Given the description of an element on the screen output the (x, y) to click on. 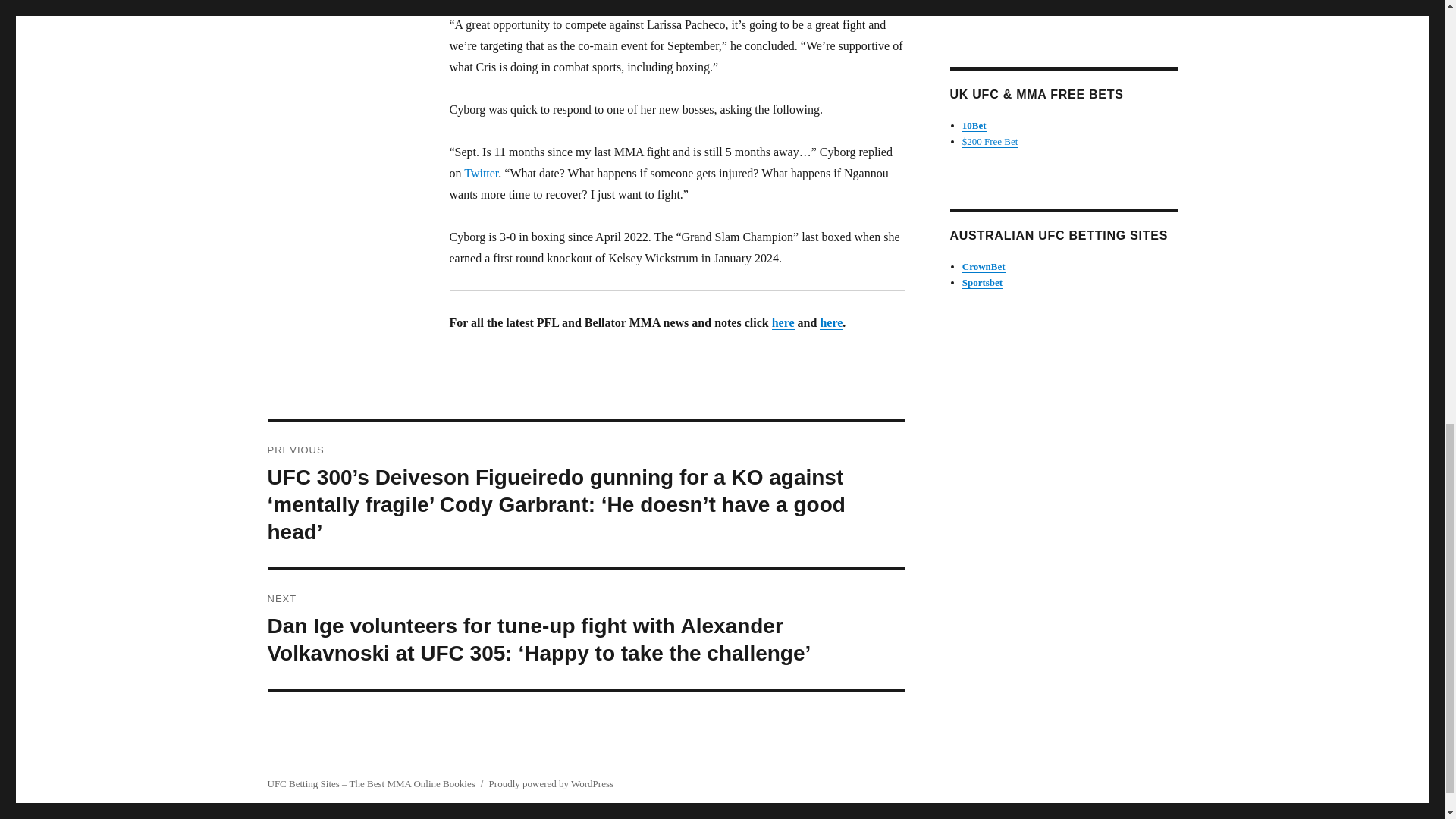
here (831, 322)
10Bet (974, 125)
here (782, 322)
CrownBet (984, 266)
Sportsbet (982, 282)
Twitter (480, 173)
